Given the description of an element on the screen output the (x, y) to click on. 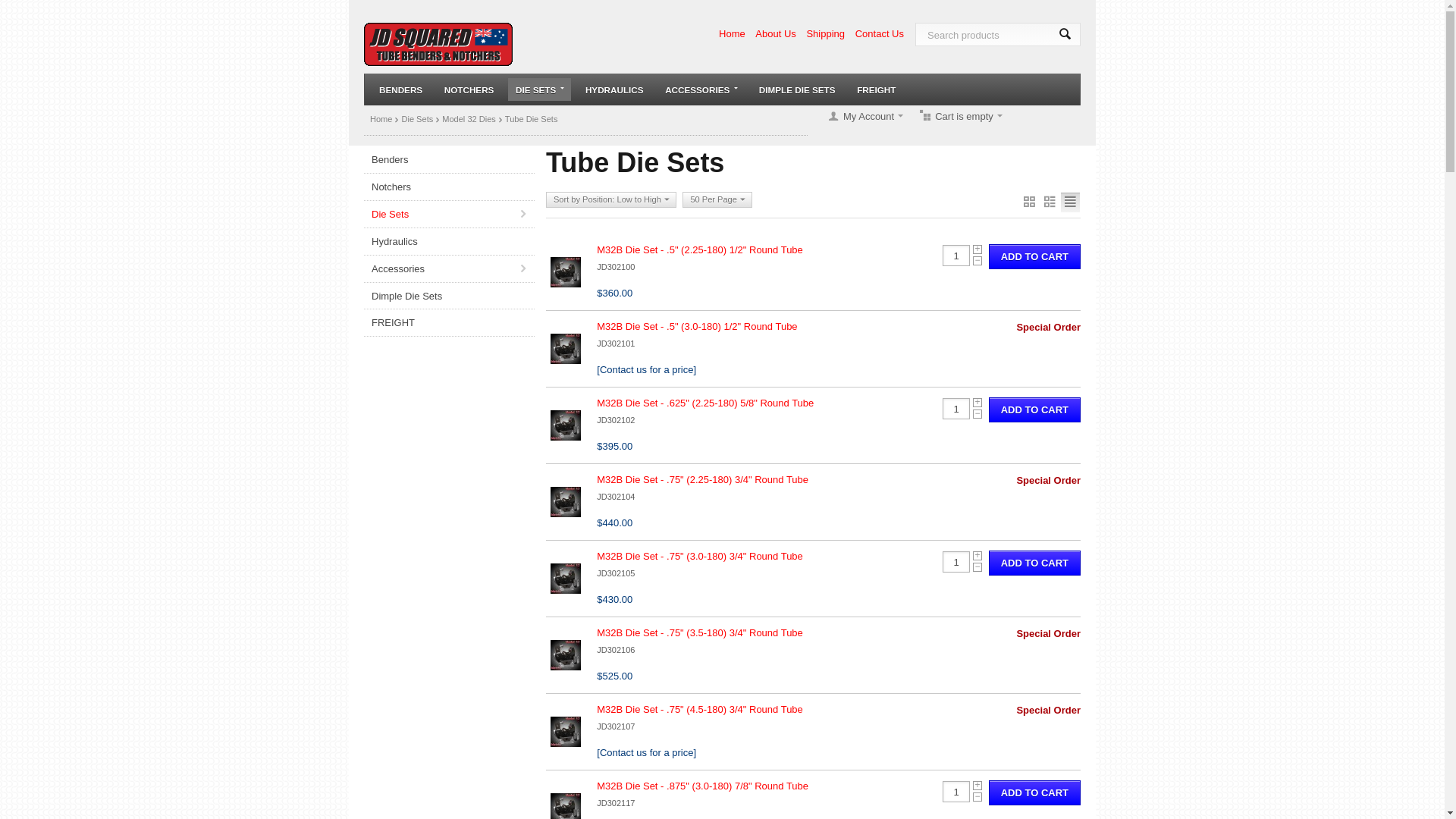
M32B Die Set - .5" (3.0-180) 1/2" Round Tube Element type: text (696, 326)
Search Element type: hover (1064, 34)
+ Element type: text (977, 402)
M32B Die Set - .75" (3.0-180) 3/4" Round Tube Element type: text (699, 555)
ACCESSORIES Element type: text (700, 89)
BENDERS Element type: text (400, 89)
JD Squared Australia Element type: hover (438, 47)
Search products Element type: hover (997, 34)
Accessories Element type: text (449, 268)
NOTCHERS Element type: text (469, 89)
Shipping Element type: text (825, 33)
M32B Die Set - .75" (3.5-180) 3/4" Round Tube Element type: text (699, 632)
Add to Cart Element type: text (1034, 409)
About Us Element type: text (775, 33)
M32B Die Set - .5" (2.25-180) 1/2" Round Tube Element type: text (699, 249)
+ Element type: text (977, 785)
Die Sets Element type: text (449, 213)
FREIGHT Element type: text (449, 322)
Add to Cart Element type: text (1034, 562)
Dimple Die Sets Element type: text (449, 295)
M32B Die Set - .75" (4.5-180) 3/4" Round Tube Element type: text (699, 709)
Sort by Position: Low to High Element type: text (610, 199)
M32B Die Set - .75" (2.25-180) 3/4" Round Tube Element type: text (702, 479)
Die Sets Element type: text (416, 118)
+ Element type: text (977, 555)
Contact Us Element type: text (879, 33)
FREIGHT Element type: text (876, 89)
+ Element type: text (977, 249)
M32B Die Set - .875" (3.0-180) 7/8" Round Tube Element type: text (702, 785)
DIE SETS Element type: text (539, 89)
Home Element type: text (731, 33)
50 Per Page Element type: text (716, 199)
Add to Cart Element type: text (1034, 792)
HYDRAULICS Element type: text (614, 89)
Add to Cart Element type: text (1034, 256)
My Account Element type: text (861, 116)
Hydraulics Element type: text (449, 241)
Cart is empty Element type: text (959, 116)
Benders Element type: text (449, 159)
Model 32 Dies Element type: text (468, 118)
Home Element type: text (380, 118)
Notchers Element type: text (449, 186)
M32B Die Set - .625" (2.25-180) 5/8" Round Tube Element type: text (704, 402)
DIMPLE DIE SETS Element type: text (797, 89)
